Given the description of an element on the screen output the (x, y) to click on. 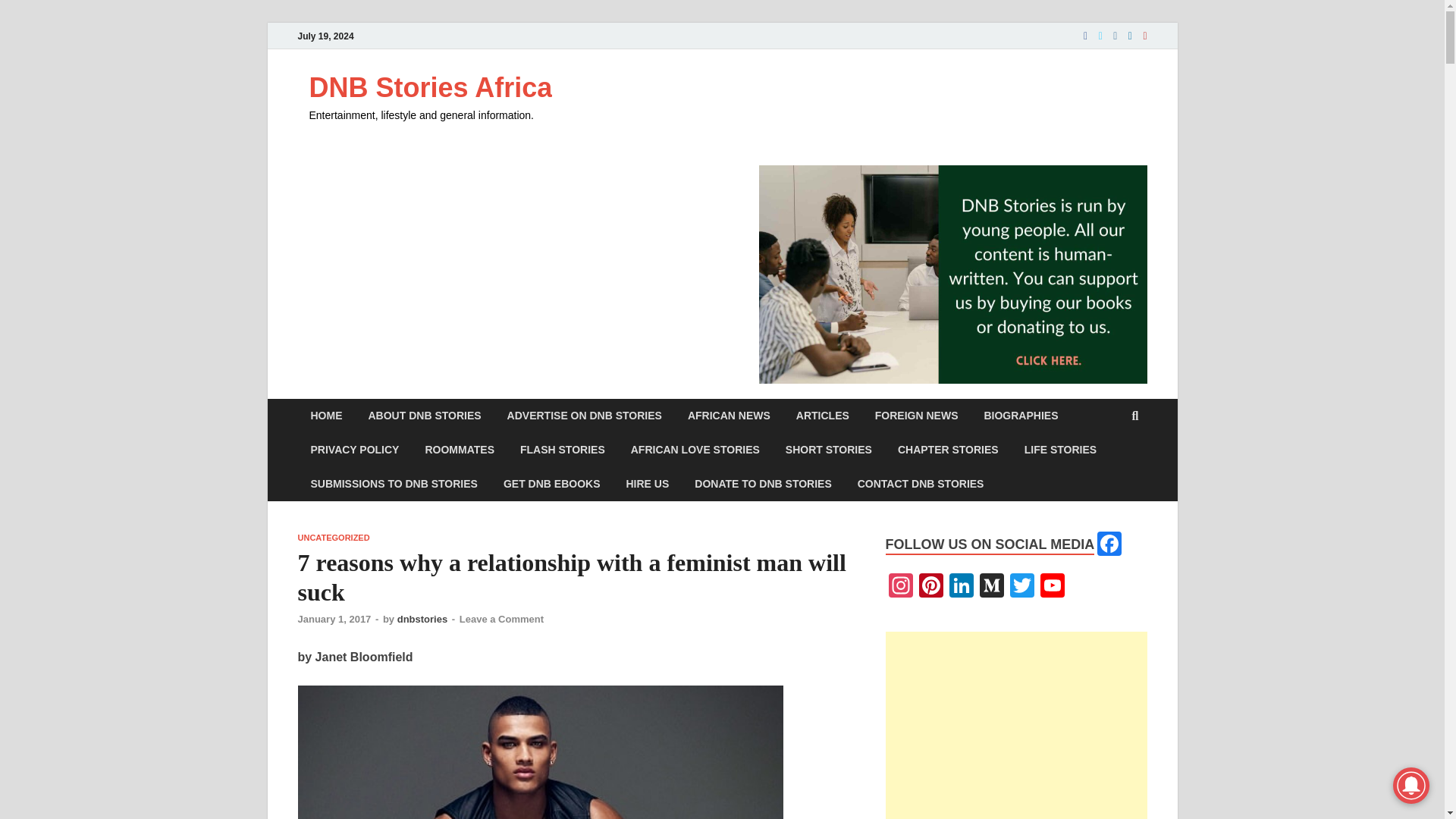
UNCATEGORIZED (333, 537)
HIRE US (646, 483)
SUBMISSIONS TO DNB STORIES (393, 483)
ARTICLES (822, 415)
CONTACT DNB STORIES (920, 483)
ADVERTISE ON DNB STORIES (585, 415)
FLASH STORIES (561, 449)
Leave a Comment (501, 618)
CHAPTER STORIES (948, 449)
dnbstories (421, 618)
GET DNB EBOOKS (551, 483)
DONATE TO DNB STORIES (762, 483)
ABOUT DNB STORIES (424, 415)
SHORT STORIES (829, 449)
BIOGRAPHIES (1020, 415)
